Given the description of an element on the screen output the (x, y) to click on. 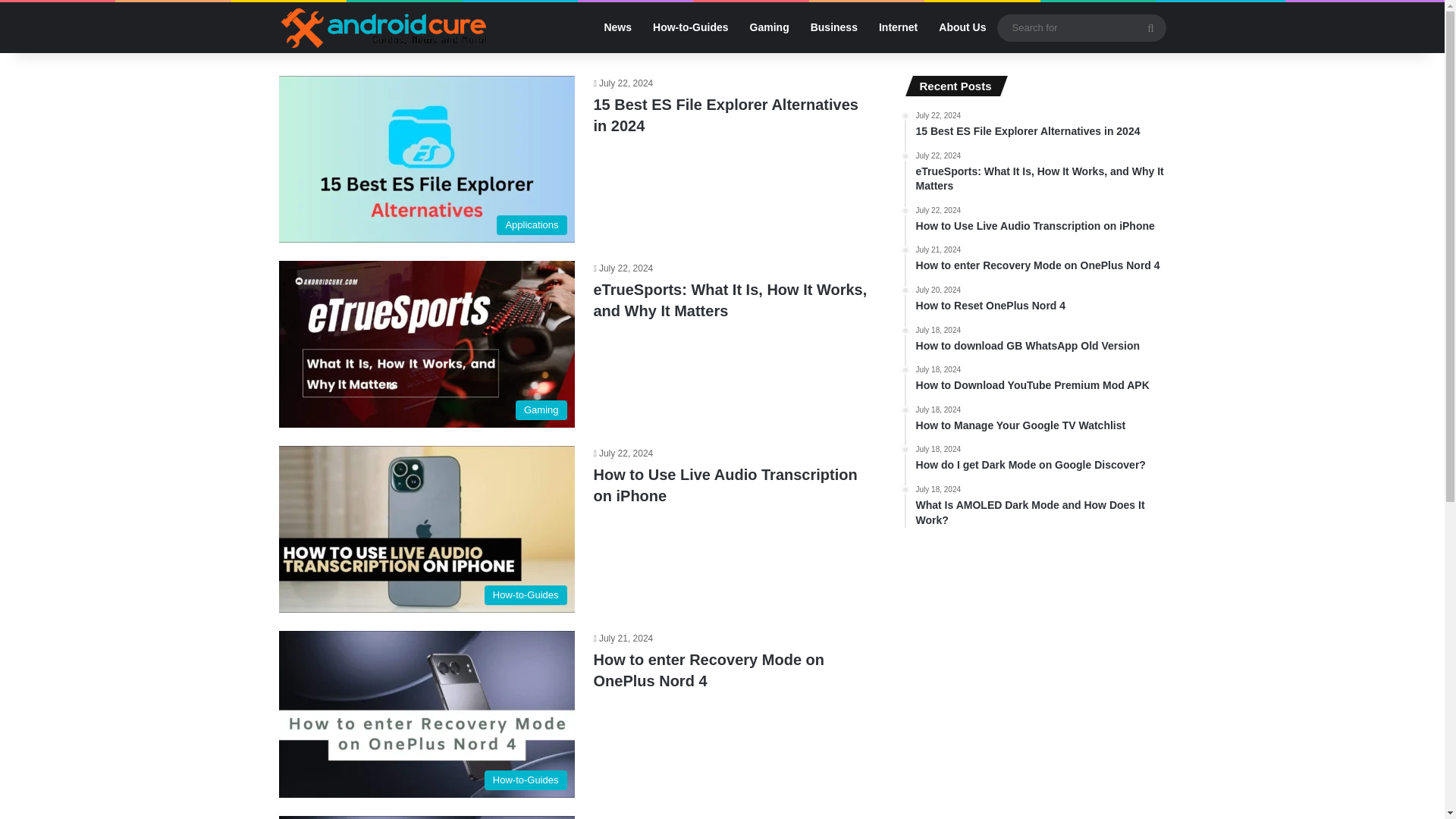
Gaming (1040, 259)
How-to-Guides (769, 27)
Search for (1040, 419)
News (1040, 339)
About Us (1040, 379)
Internet (1150, 26)
Gaming (617, 27)
How to Use Live Audio Transcription on iPhone (961, 27)
